Given the description of an element on the screen output the (x, y) to click on. 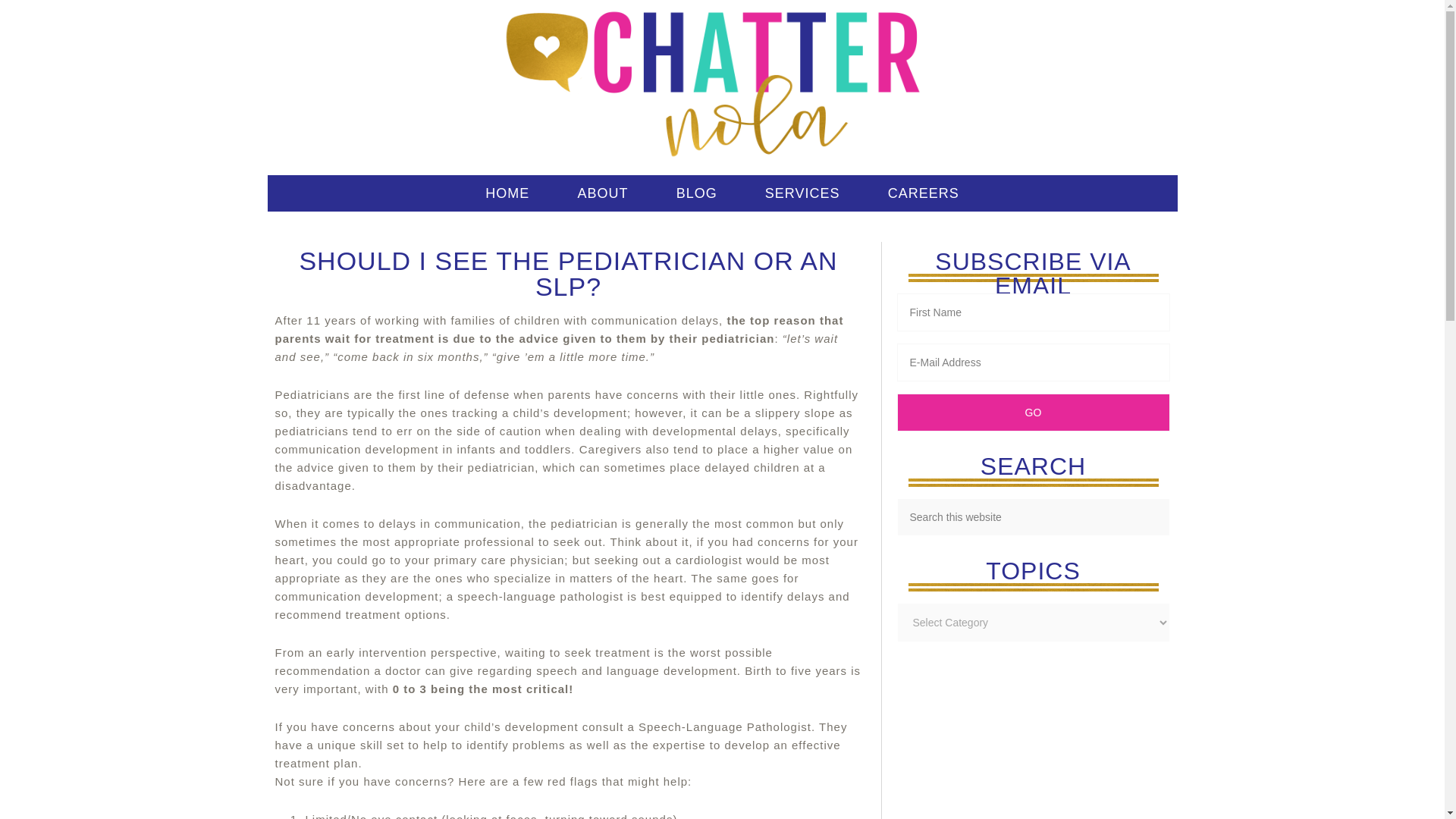
HOME (507, 193)
SERVICES (801, 193)
CAREERS (923, 193)
CHATTERNOLA (722, 82)
BLOG (696, 193)
Go (1032, 412)
ABOUT (601, 193)
Go (1032, 412)
